Given the description of an element on the screen output the (x, y) to click on. 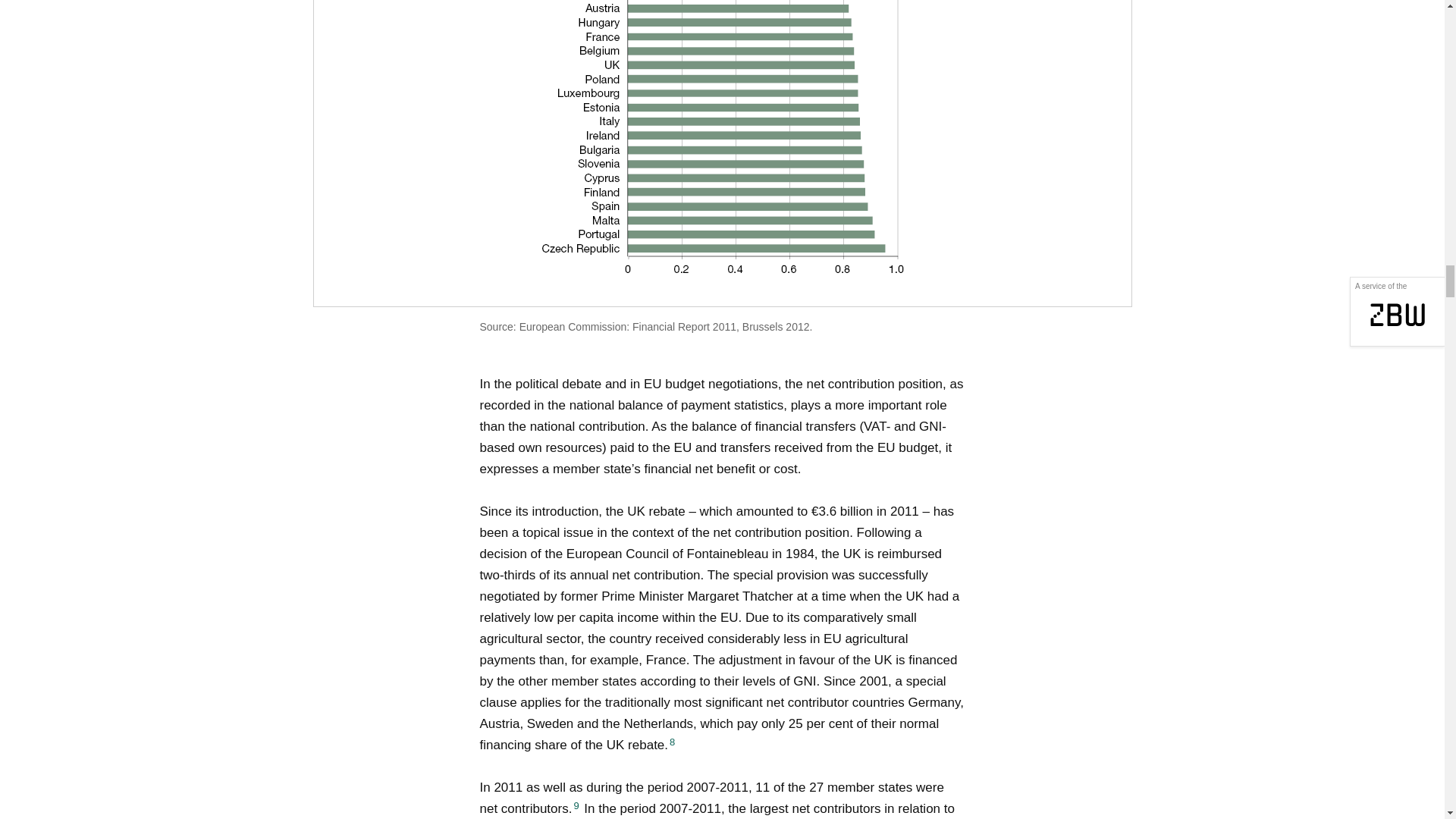
8 (672, 741)
9 (575, 805)
